Given the description of an element on the screen output the (x, y) to click on. 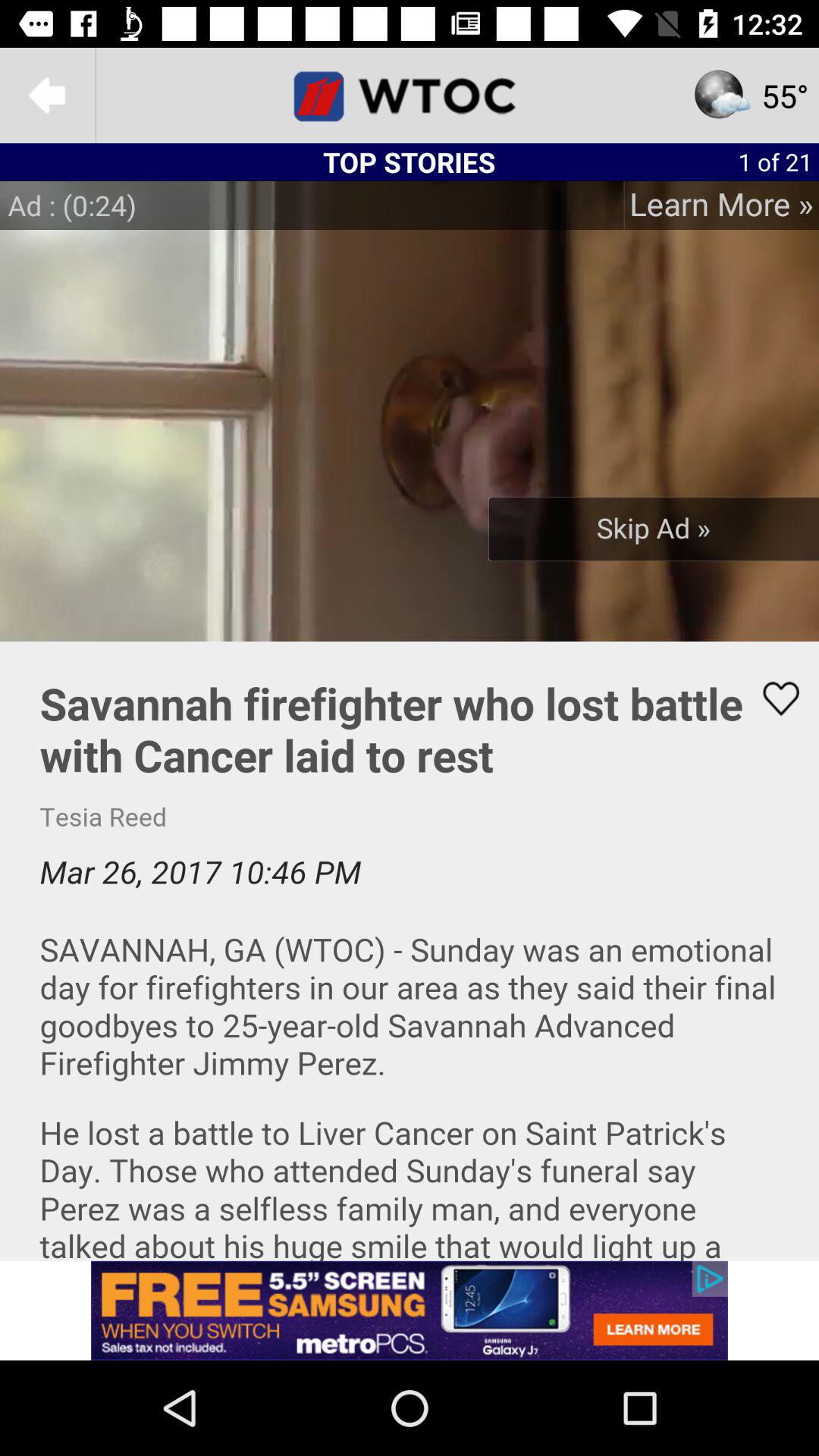
go back (47, 95)
